Given the description of an element on the screen output the (x, y) to click on. 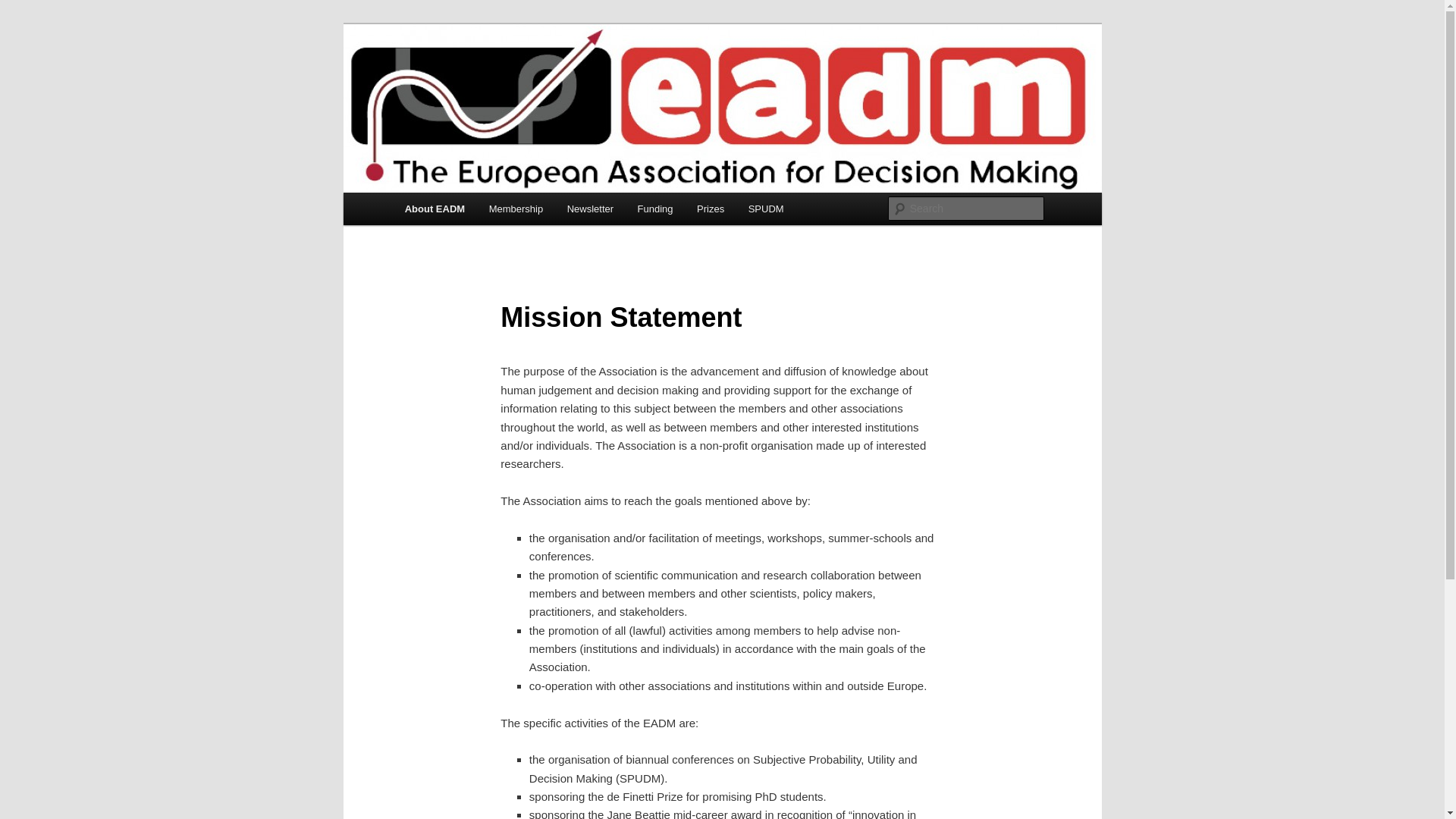
Prizes (710, 208)
About EADM (435, 208)
Membership (515, 208)
Search (24, 8)
SPUDM (765, 208)
Funding (655, 208)
Newsletter (590, 208)
EADM (433, 78)
